Given the description of an element on the screen output the (x, y) to click on. 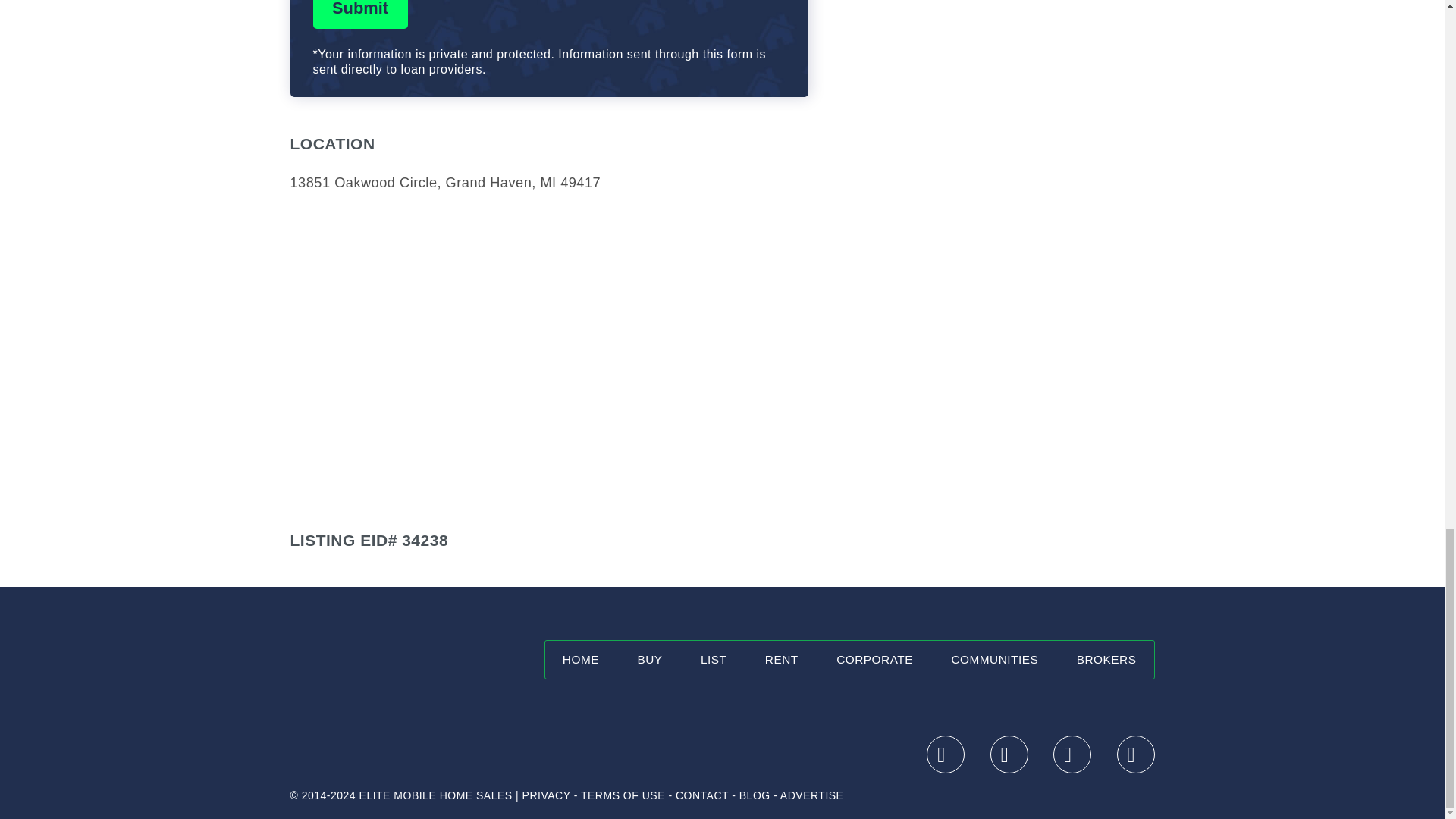
Submit (360, 14)
